Given the description of an element on the screen output the (x, y) to click on. 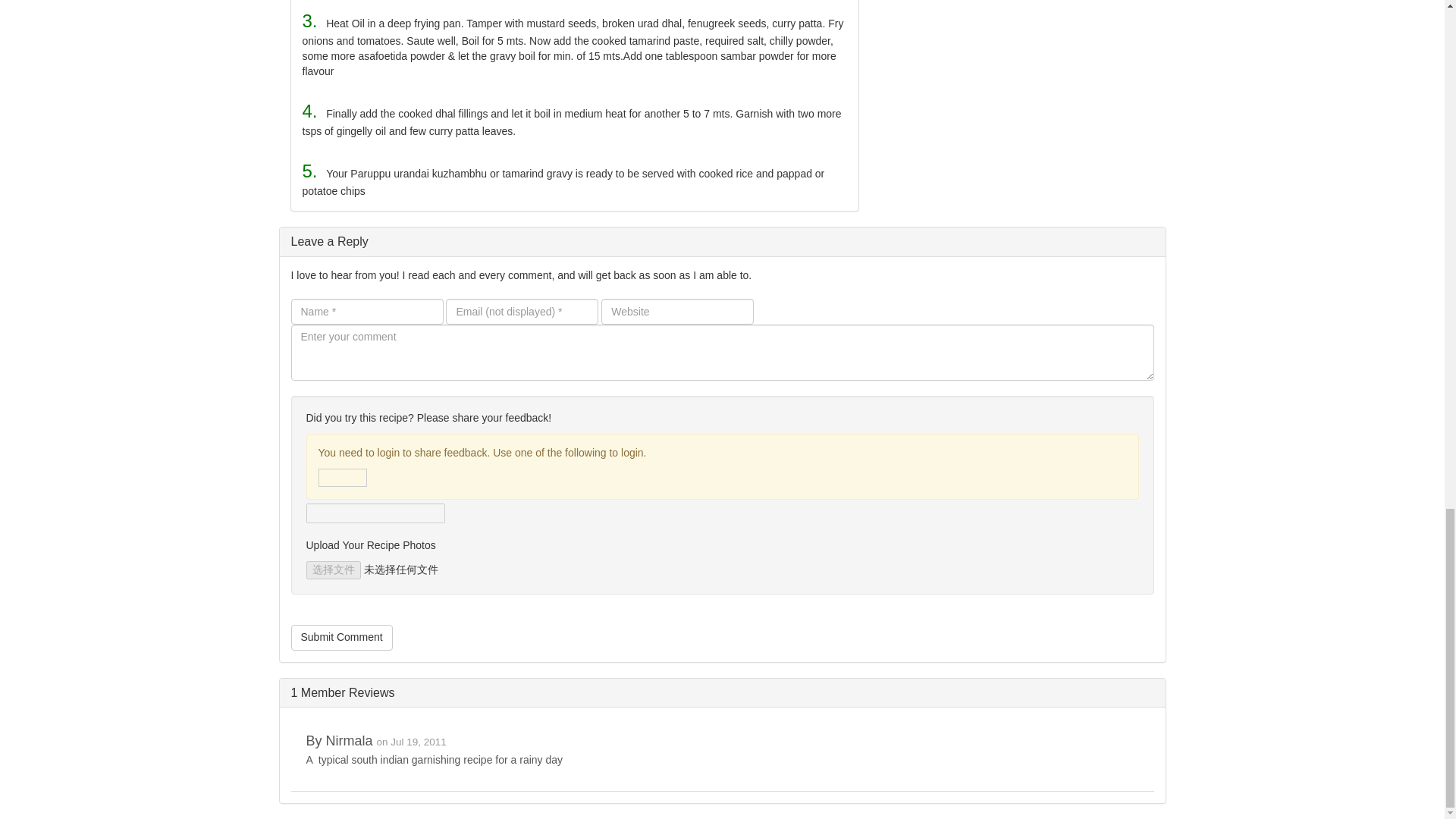
Submit Comment (342, 637)
